Given the description of an element on the screen output the (x, y) to click on. 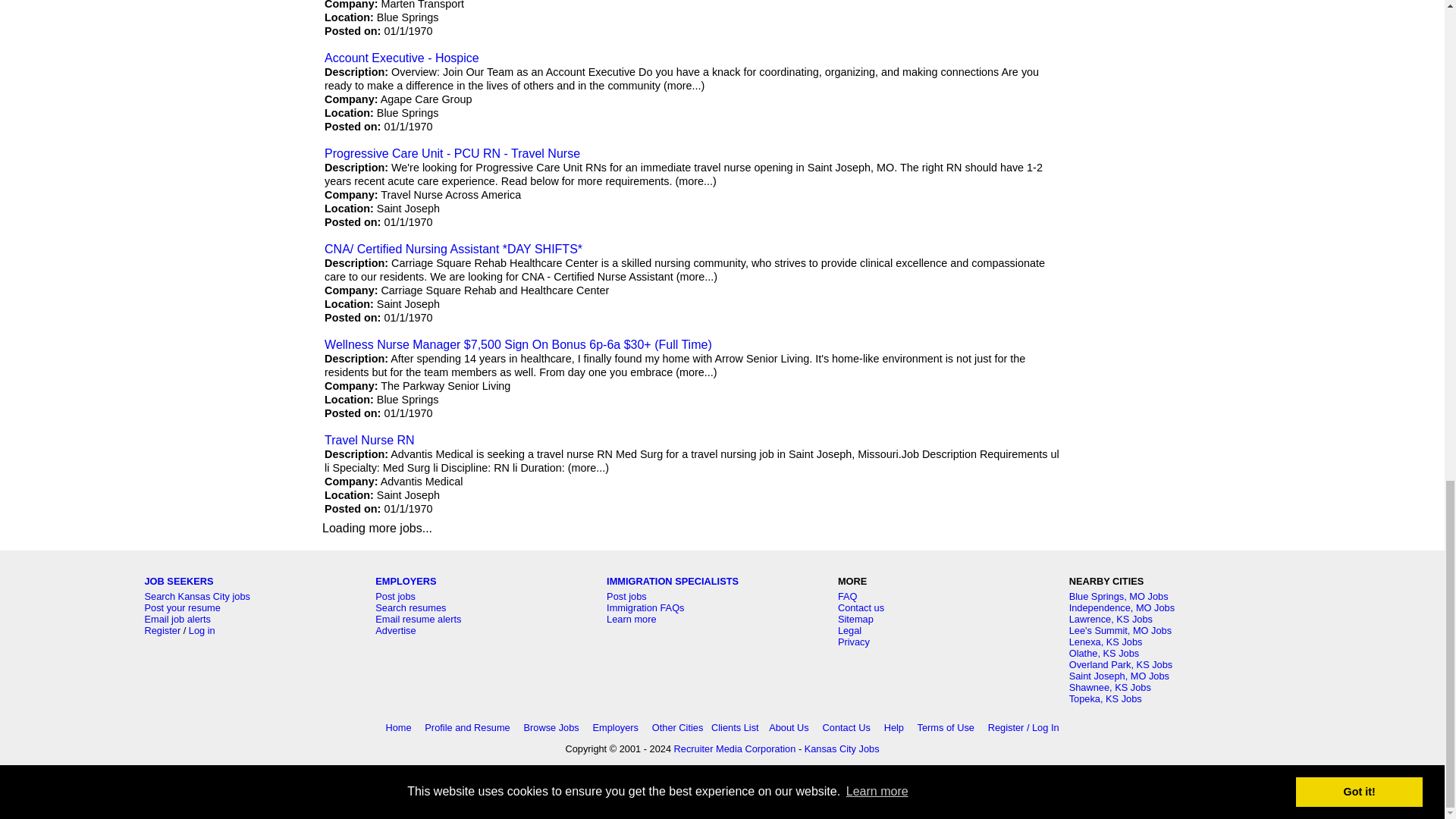
Travel Nurse RN (369, 440)
Progressive Care Unit - PCU RN - Travel Nurse (451, 153)
Account Executive - Hospice (401, 57)
